Given the description of an element on the screen output the (x, y) to click on. 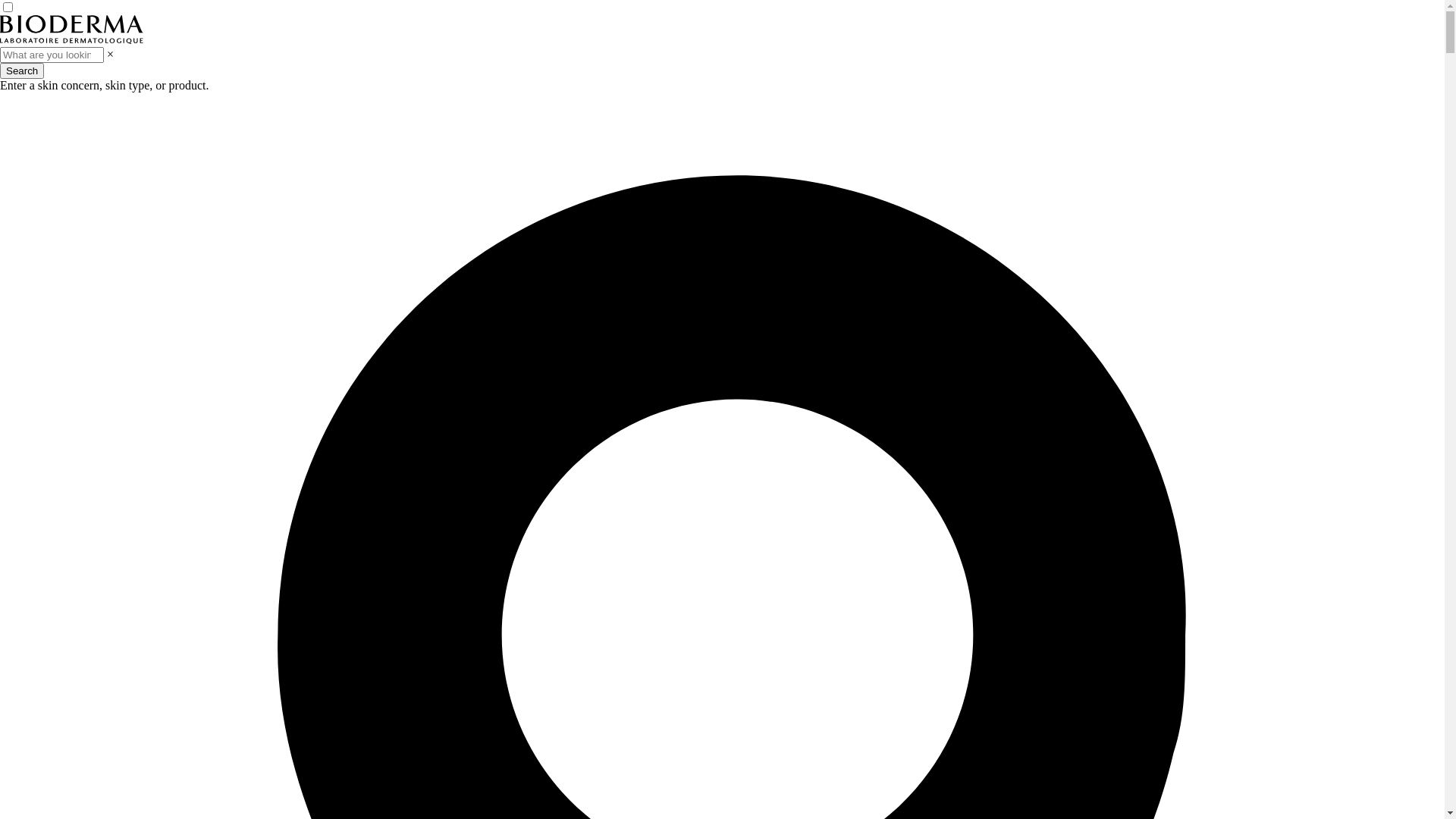
Home Element type: text (71, 39)
Search Element type: text (21, 70)
Skip to main content Element type: text (0, 0)
